Given the description of an element on the screen output the (x, y) to click on. 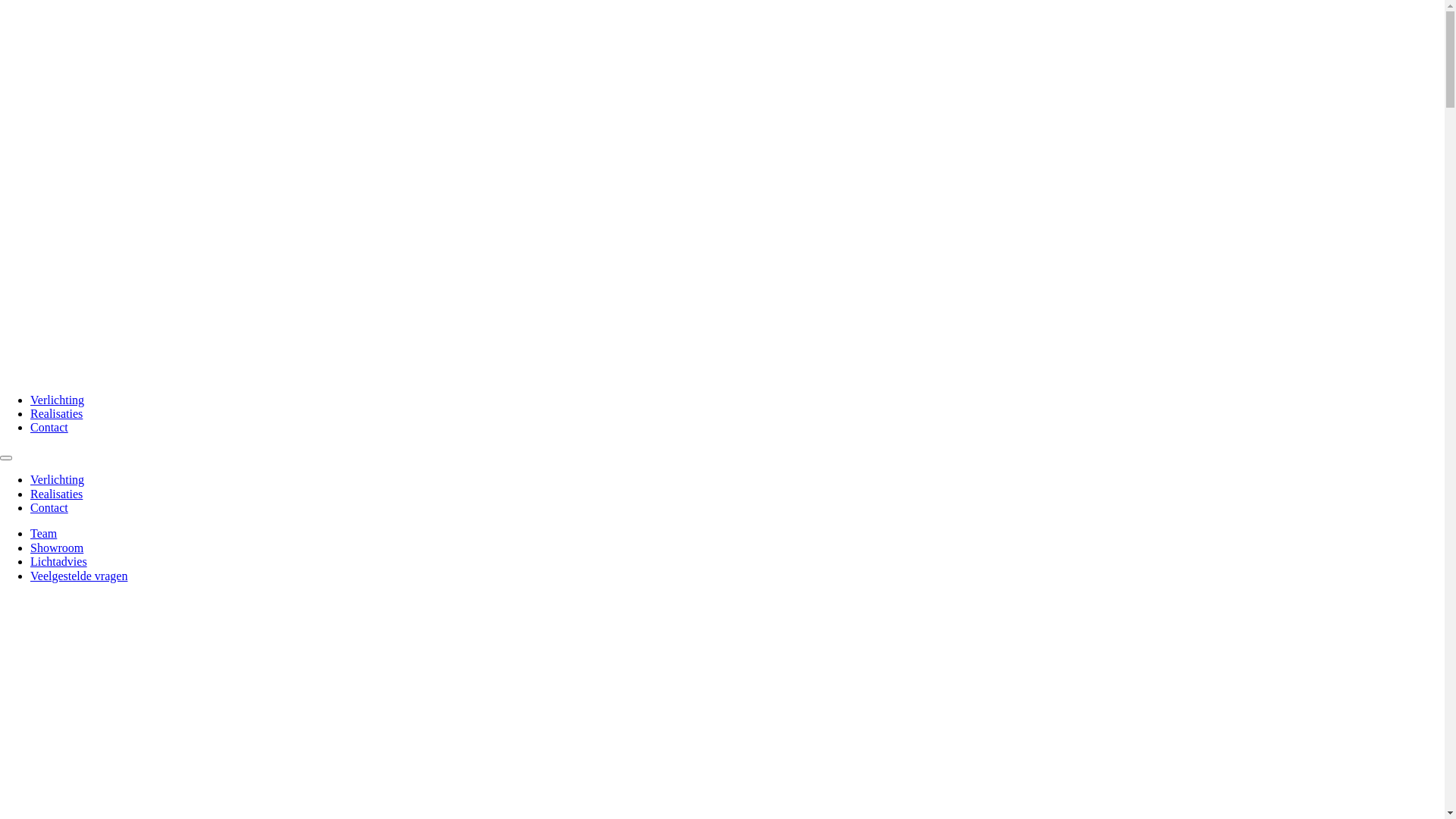
Verlichting Element type: text (57, 479)
Candela Element type: hover (722, 373)
Verlichting Element type: text (57, 399)
Lichtadvies Element type: text (58, 561)
Realisaties Element type: text (56, 493)
Team Element type: text (43, 533)
Contact Element type: text (49, 426)
Veelgestelde vragen Element type: text (78, 575)
Realisaties Element type: text (56, 413)
Contact Element type: text (49, 507)
Showroom Element type: text (56, 547)
